Given the description of an element on the screen output the (x, y) to click on. 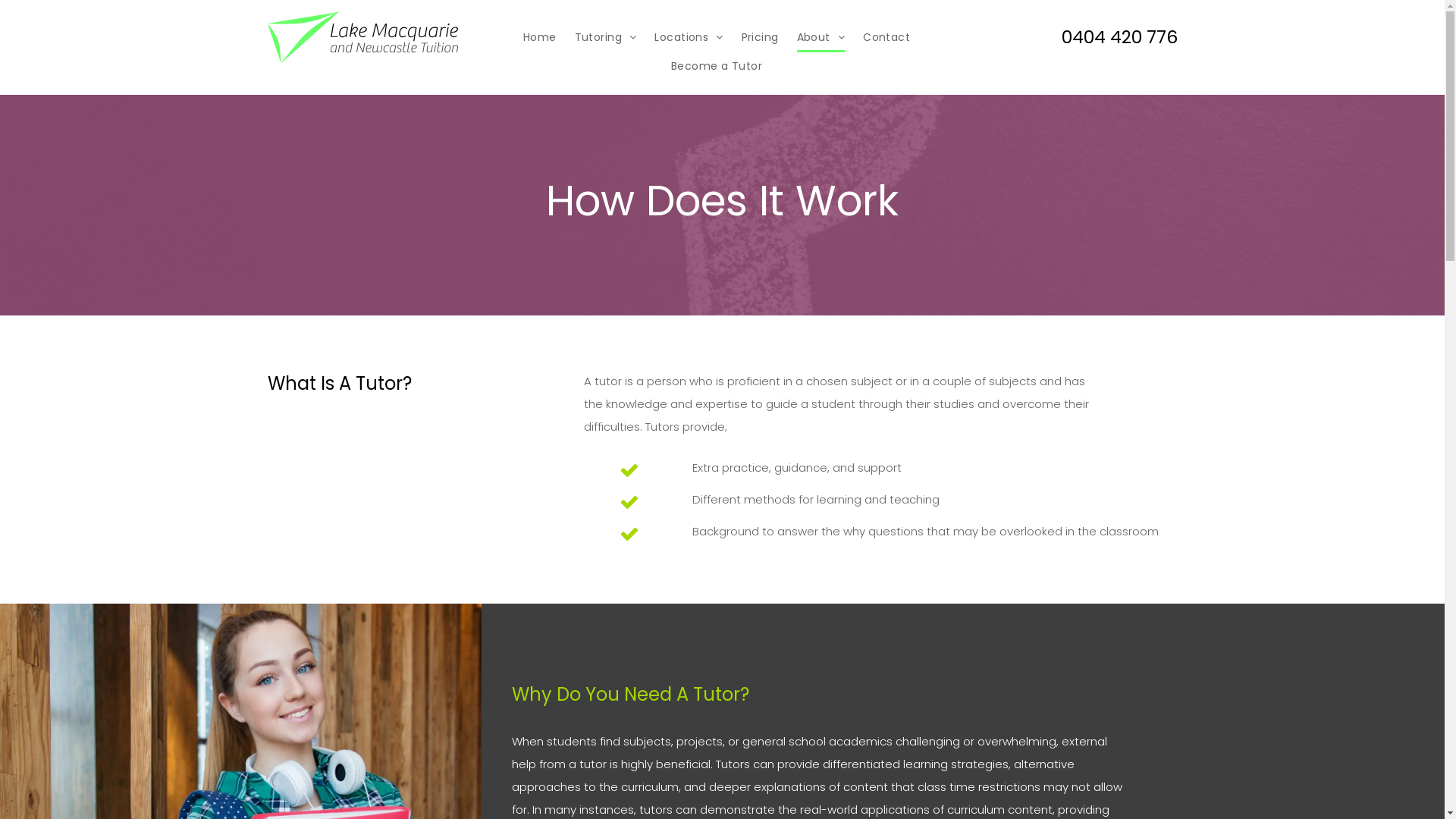
Tutoring Element type: text (605, 37)
About Element type: text (820, 37)
Pricing Element type: text (759, 37)
Become a Tutor Element type: text (716, 66)
Home Element type: text (539, 37)
Contact Element type: text (886, 37)
0404 420 776 Element type: text (1119, 37)
Locations Element type: text (688, 37)
